Given the description of an element on the screen output the (x, y) to click on. 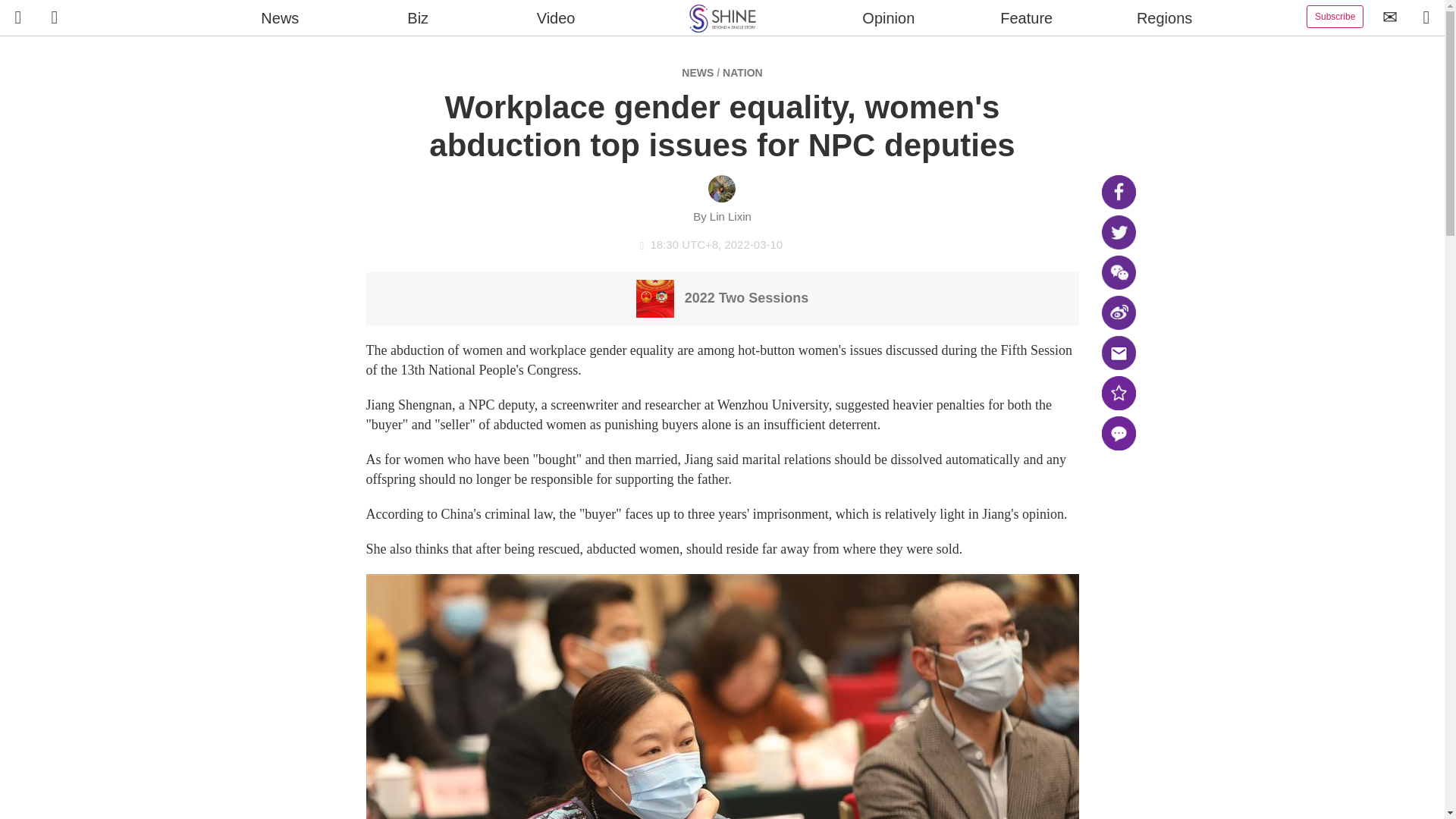
NATION (742, 72)
Add to favorites (1117, 392)
Share your comments (1117, 433)
Share via email (1117, 352)
2022 Two Sessions (722, 297)
NEWS (697, 72)
